Given the description of an element on the screen output the (x, y) to click on. 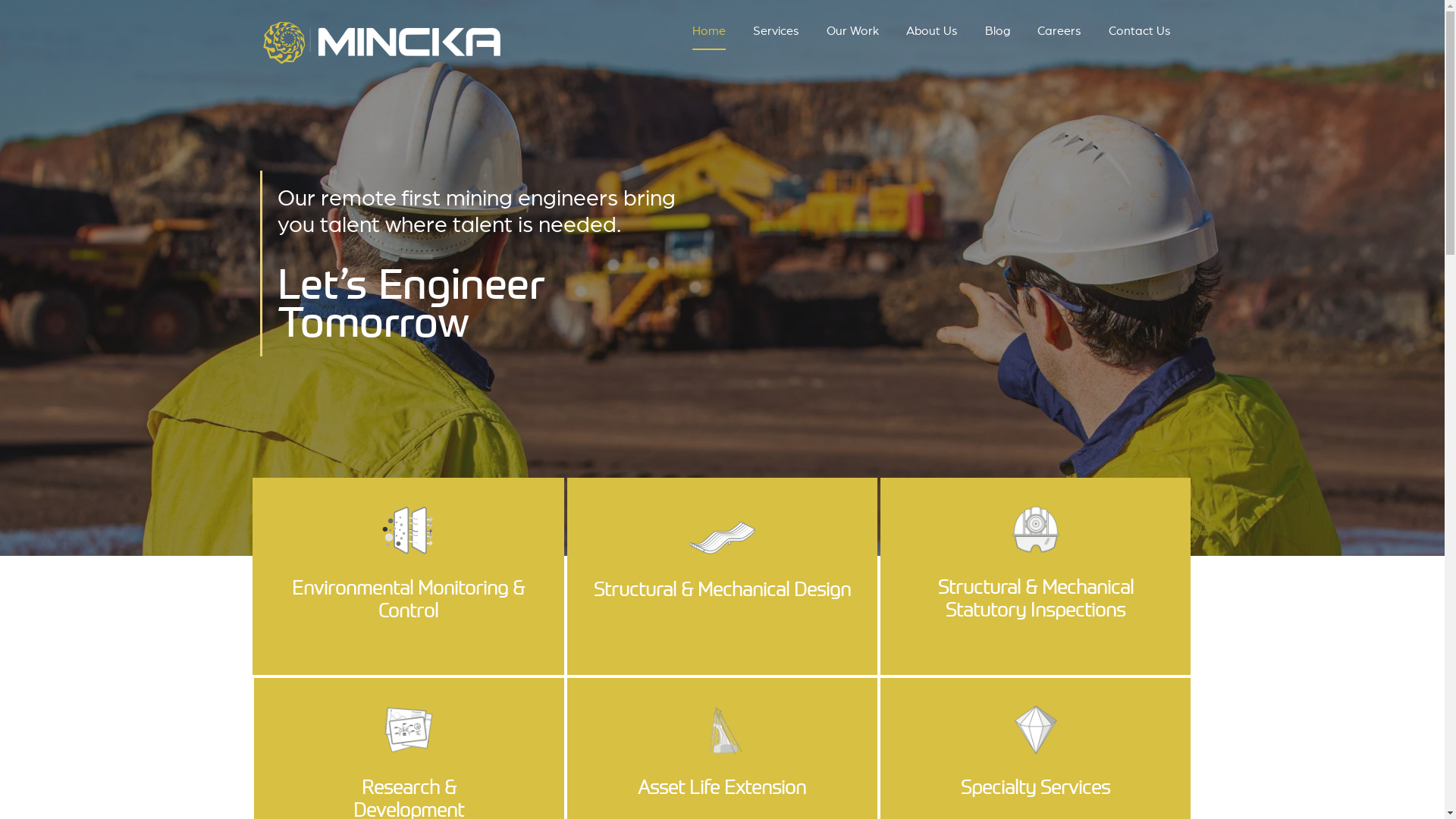
Contact Us Element type: text (1139, 34)
Home Element type: text (708, 34)
Blog Element type: text (997, 34)
Services Element type: text (776, 34)
About Us Element type: text (931, 34)
Our Work Element type: text (852, 34)
Careers Element type: text (1059, 34)
